Given the description of an element on the screen output the (x, y) to click on. 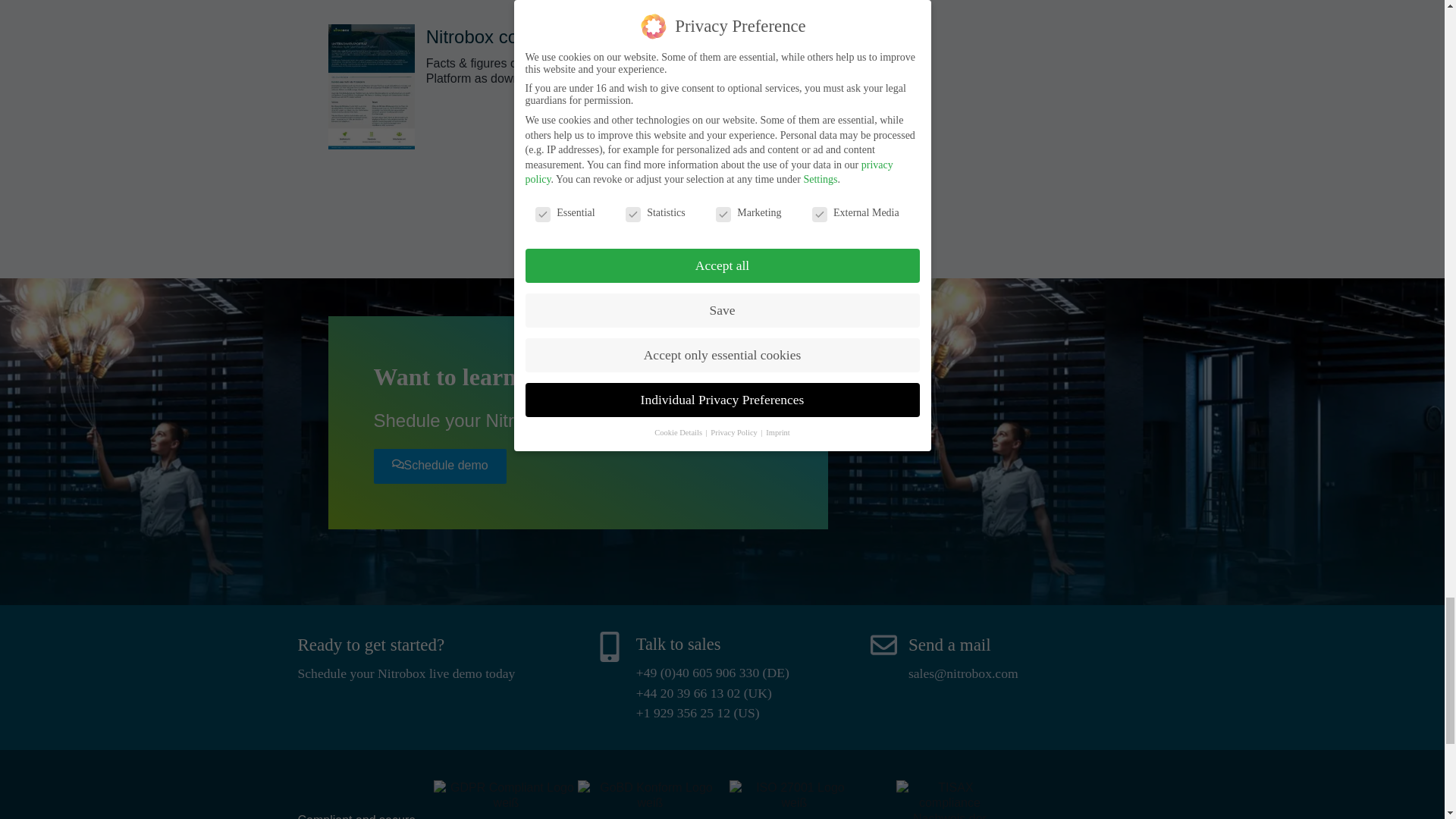
nitrobox-compliance-TISAX (949, 799)
